Given the description of an element on the screen output the (x, y) to click on. 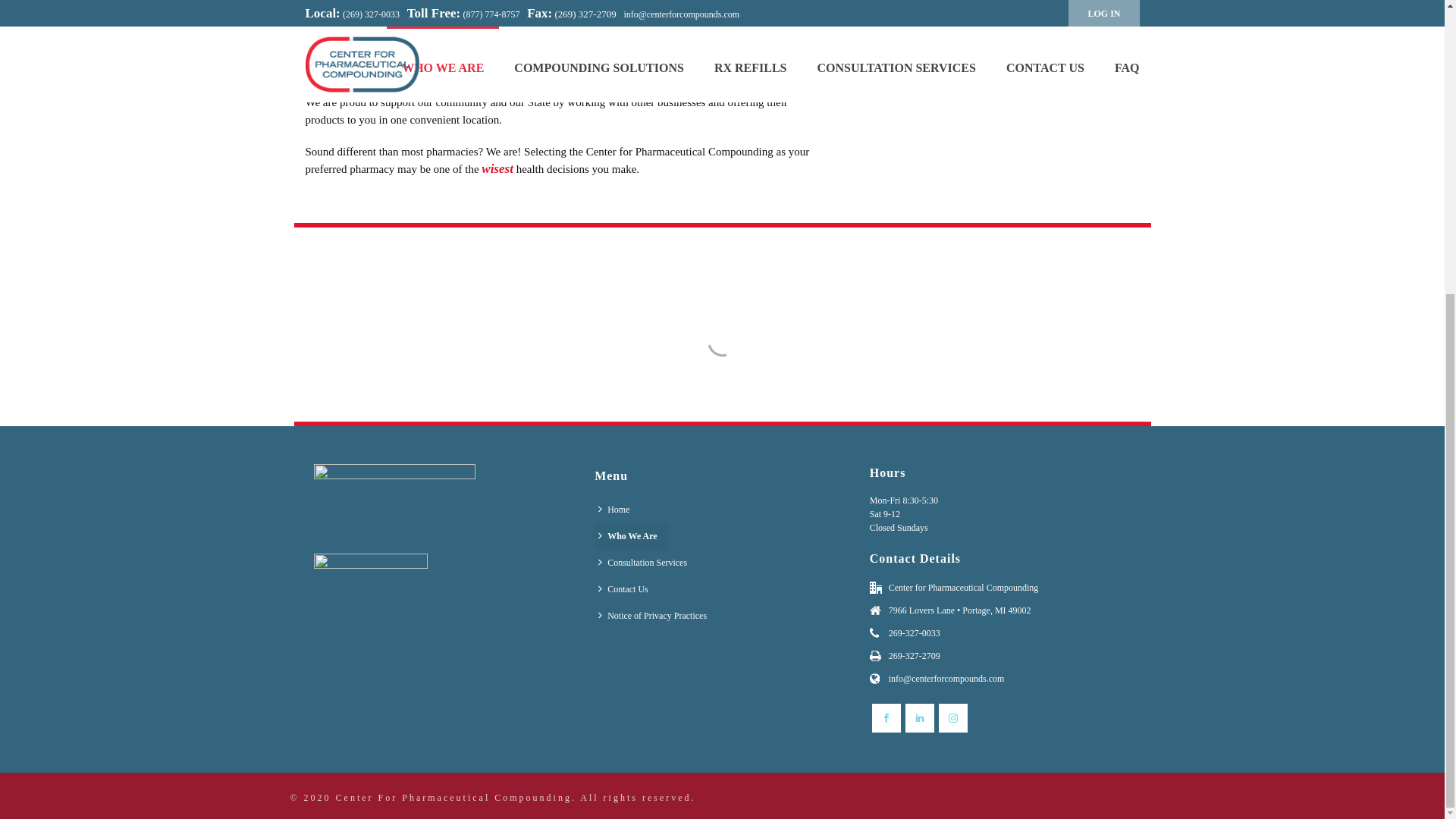
Who We Are (631, 536)
Consultation Services (646, 562)
Follow Us on linkedin (919, 717)
Follow Us on facebook (886, 717)
Follow Us on instagram (953, 717)
Contact Us (626, 589)
Home (617, 509)
